Given the description of an element on the screen output the (x, y) to click on. 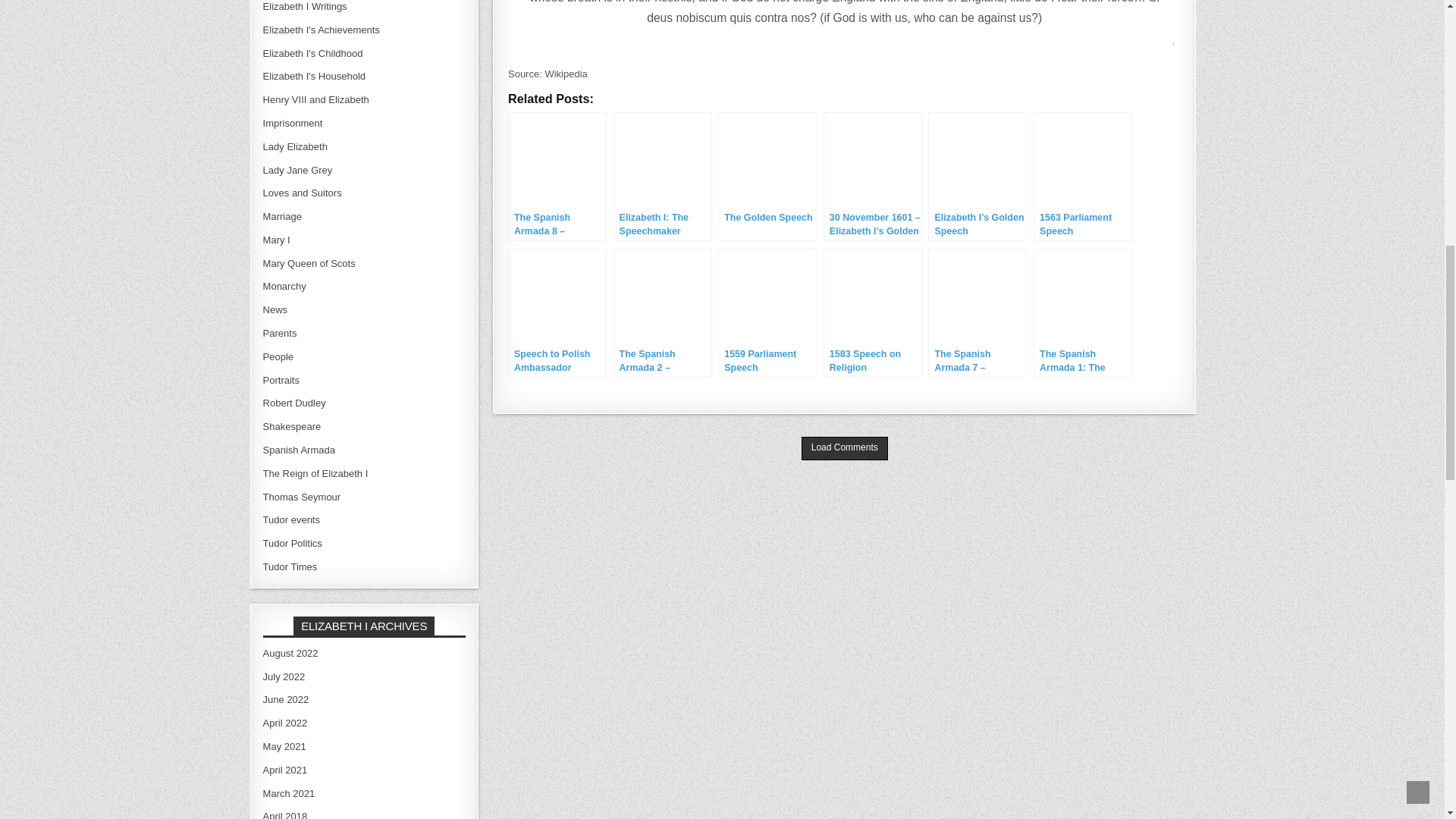
Load Comments (845, 448)
